Given the description of an element on the screen output the (x, y) to click on. 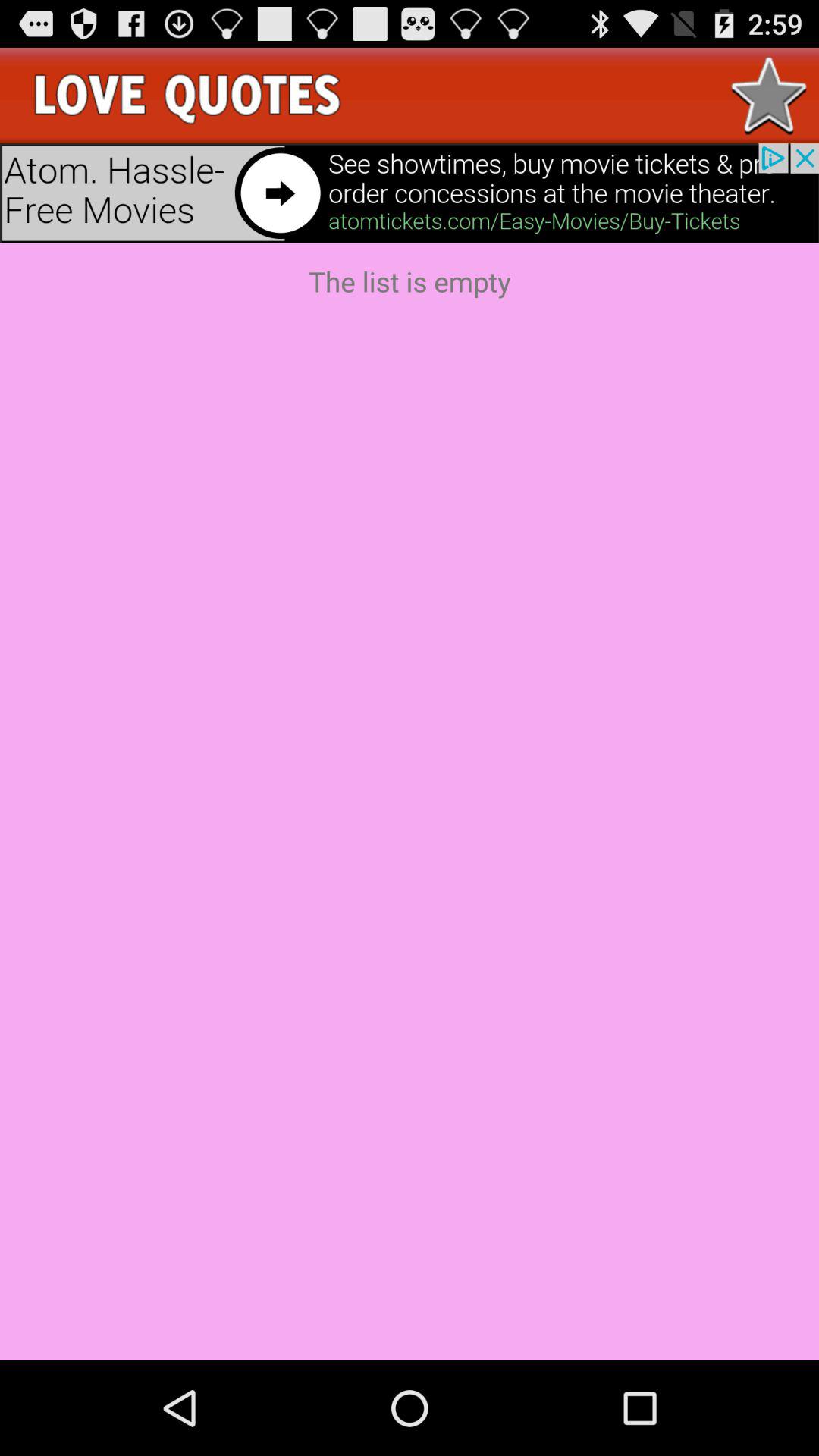
go to advertisement (409, 192)
